Given the description of an element on the screen output the (x, y) to click on. 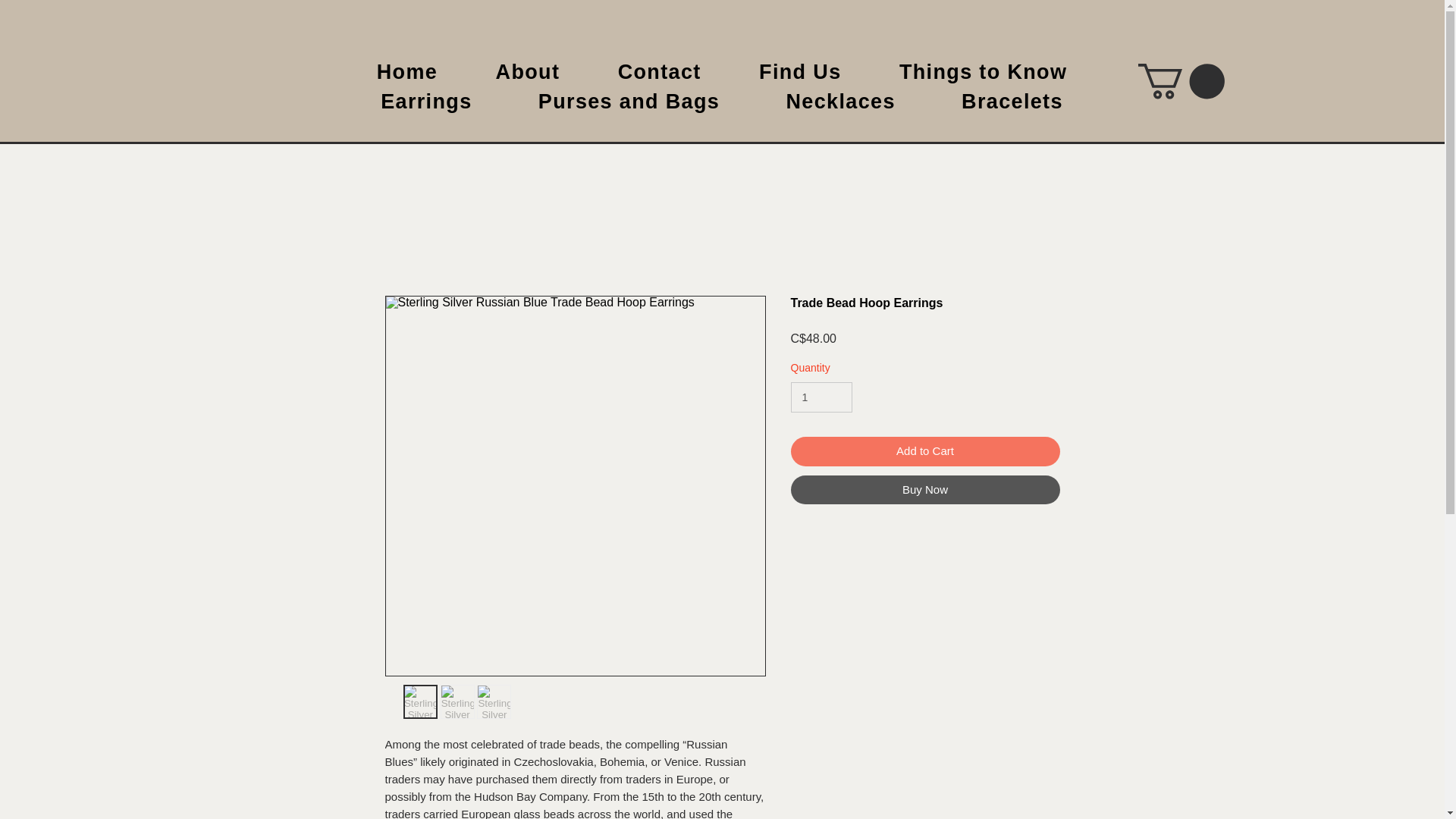
Necklaces (840, 101)
Earrings (426, 101)
Find Us (800, 71)
About (526, 71)
Home (406, 71)
Purses and Bags (628, 101)
Add to Cart (924, 451)
Buy Now (924, 489)
Contact (658, 71)
1 (820, 397)
